Given the description of an element on the screen output the (x, y) to click on. 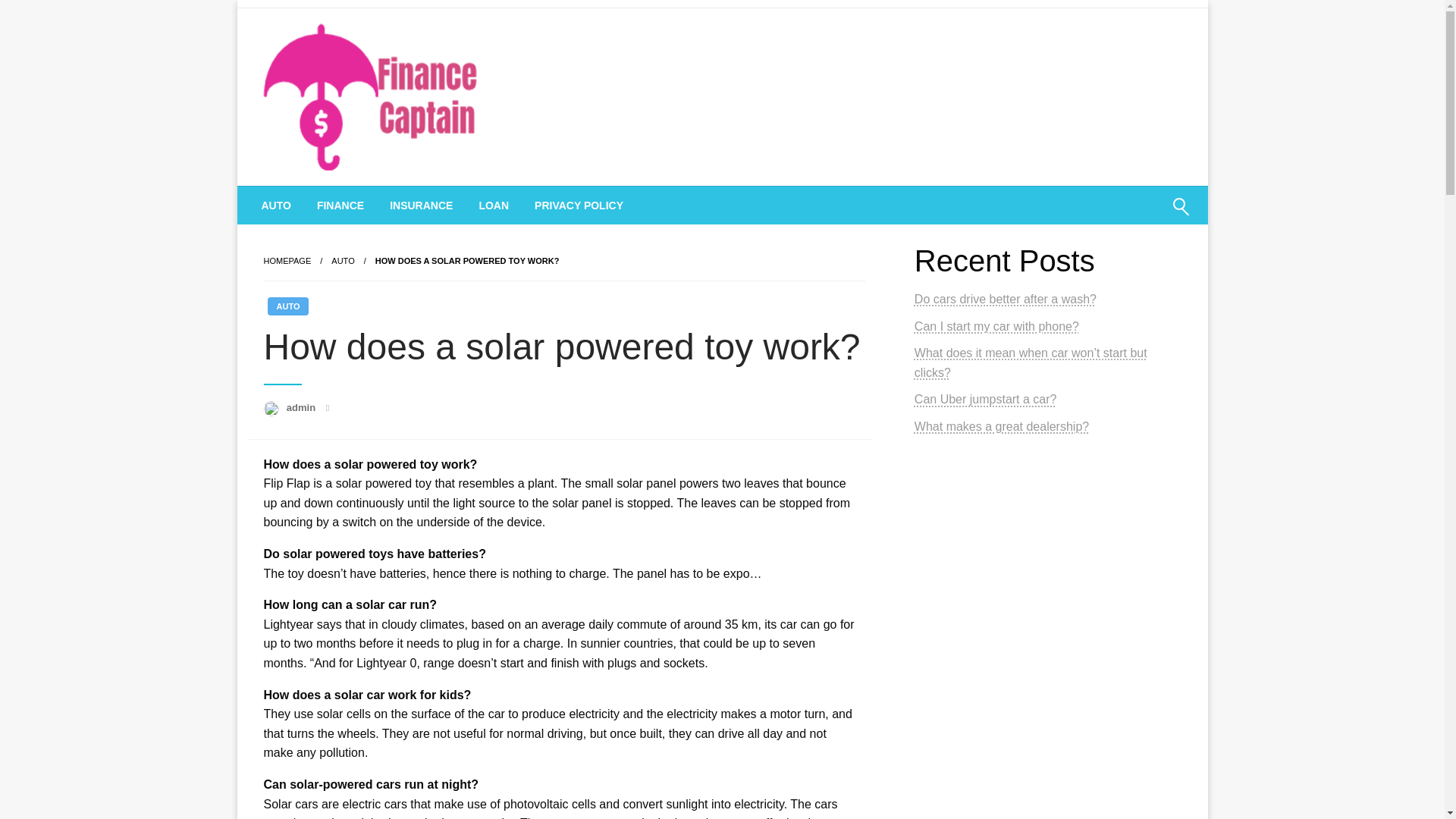
LOAN (493, 205)
Can I start my car with phone? (996, 326)
Homepage (287, 260)
admin (302, 407)
admin (302, 407)
How does a solar powered toy work? (467, 260)
FINANCE (340, 205)
AUTO (276, 205)
HOMEPAGE (287, 260)
AUTO (342, 260)
auto (342, 260)
Search (1144, 216)
Do cars drive better after a wash? (1005, 298)
INSURANCE (421, 205)
finance captain (358, 205)
